Given the description of an element on the screen output the (x, y) to click on. 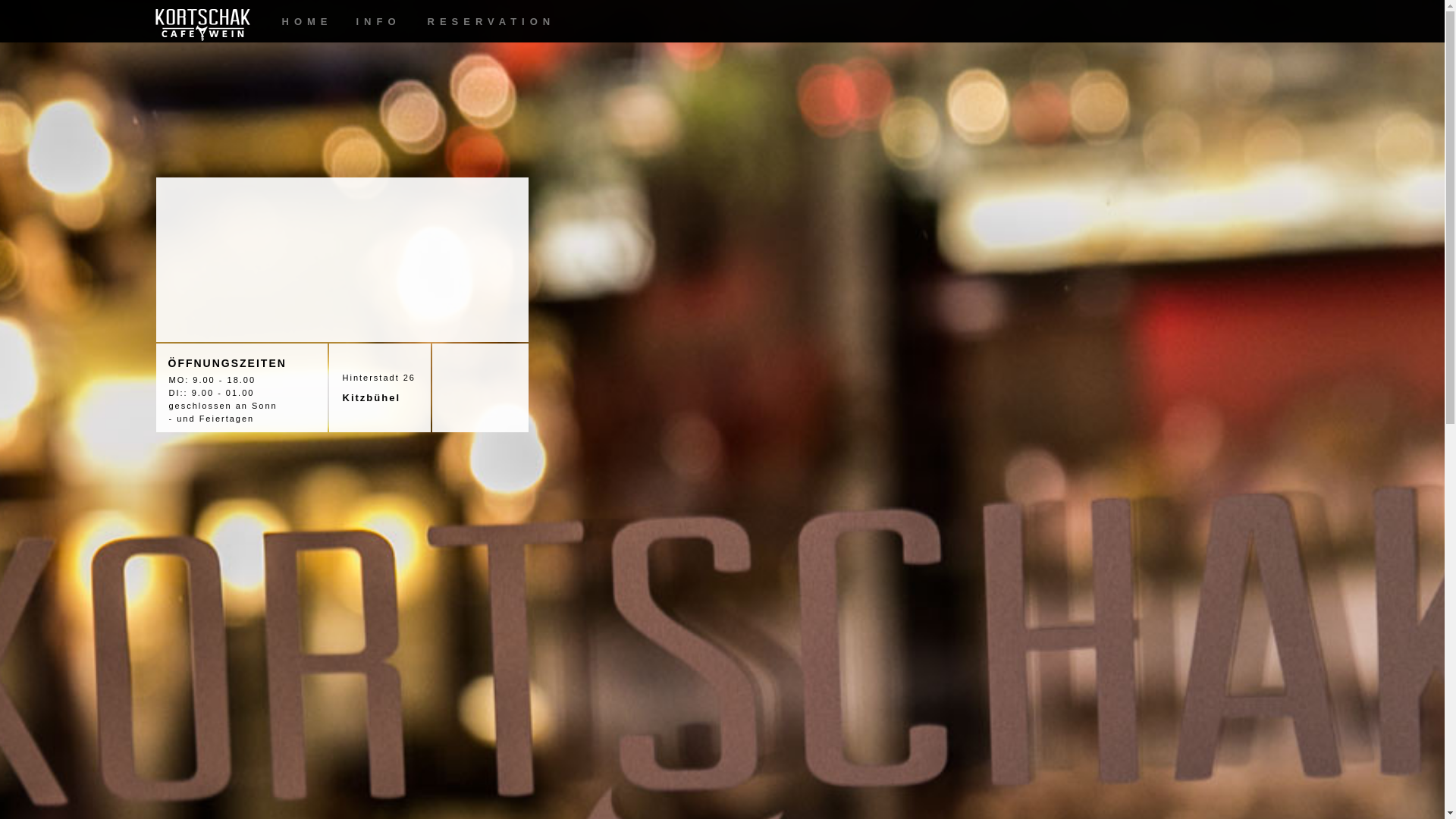
RESERVATION Element type: text (482, 21)
INFO Element type: text (375, 21)
HOME Element type: text (302, 21)
